Given the description of an element on the screen output the (x, y) to click on. 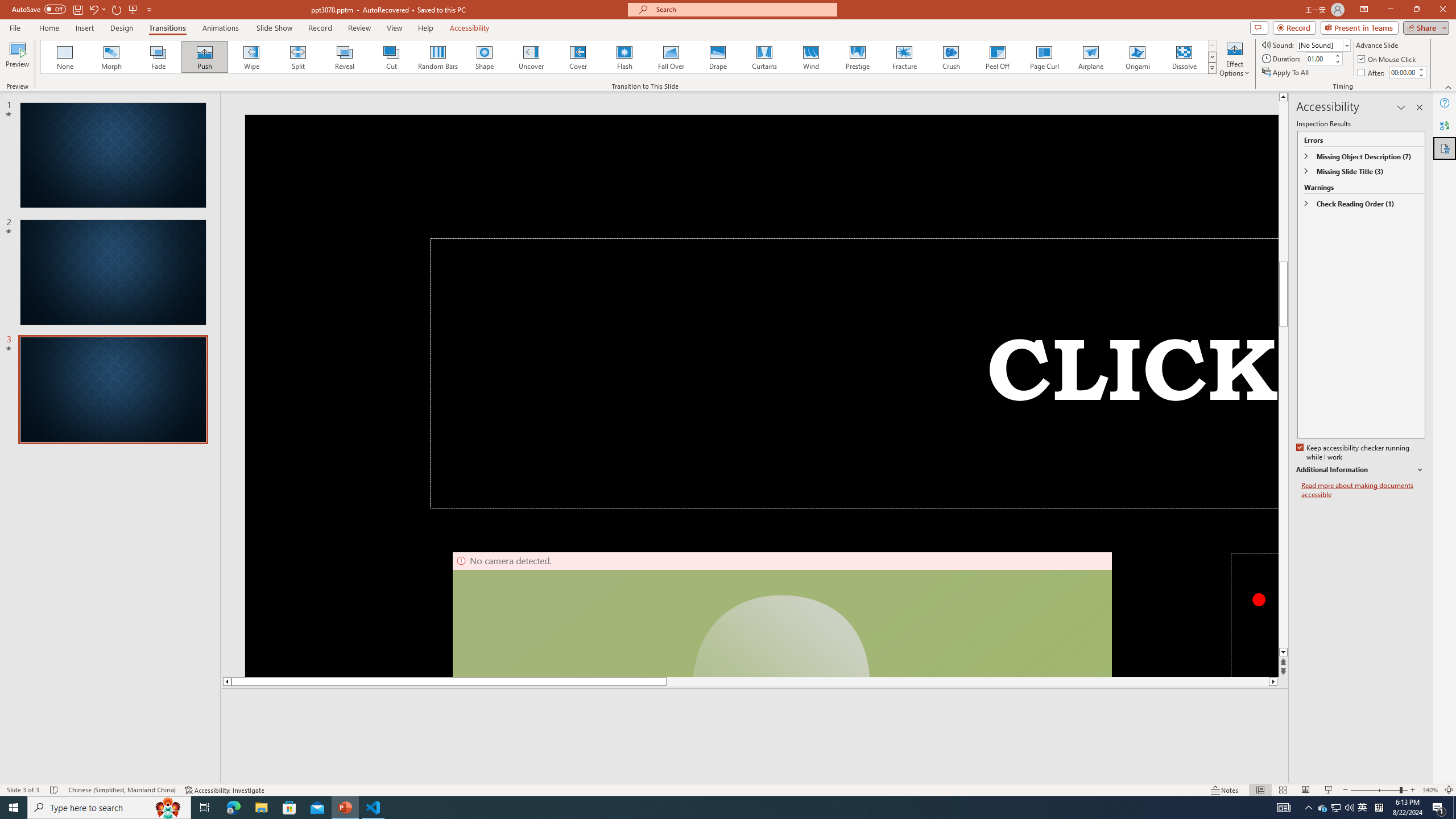
After (1403, 72)
Shape (484, 56)
Crush (950, 56)
Uncover (531, 56)
Split (298, 56)
